Given the description of an element on the screen output the (x, y) to click on. 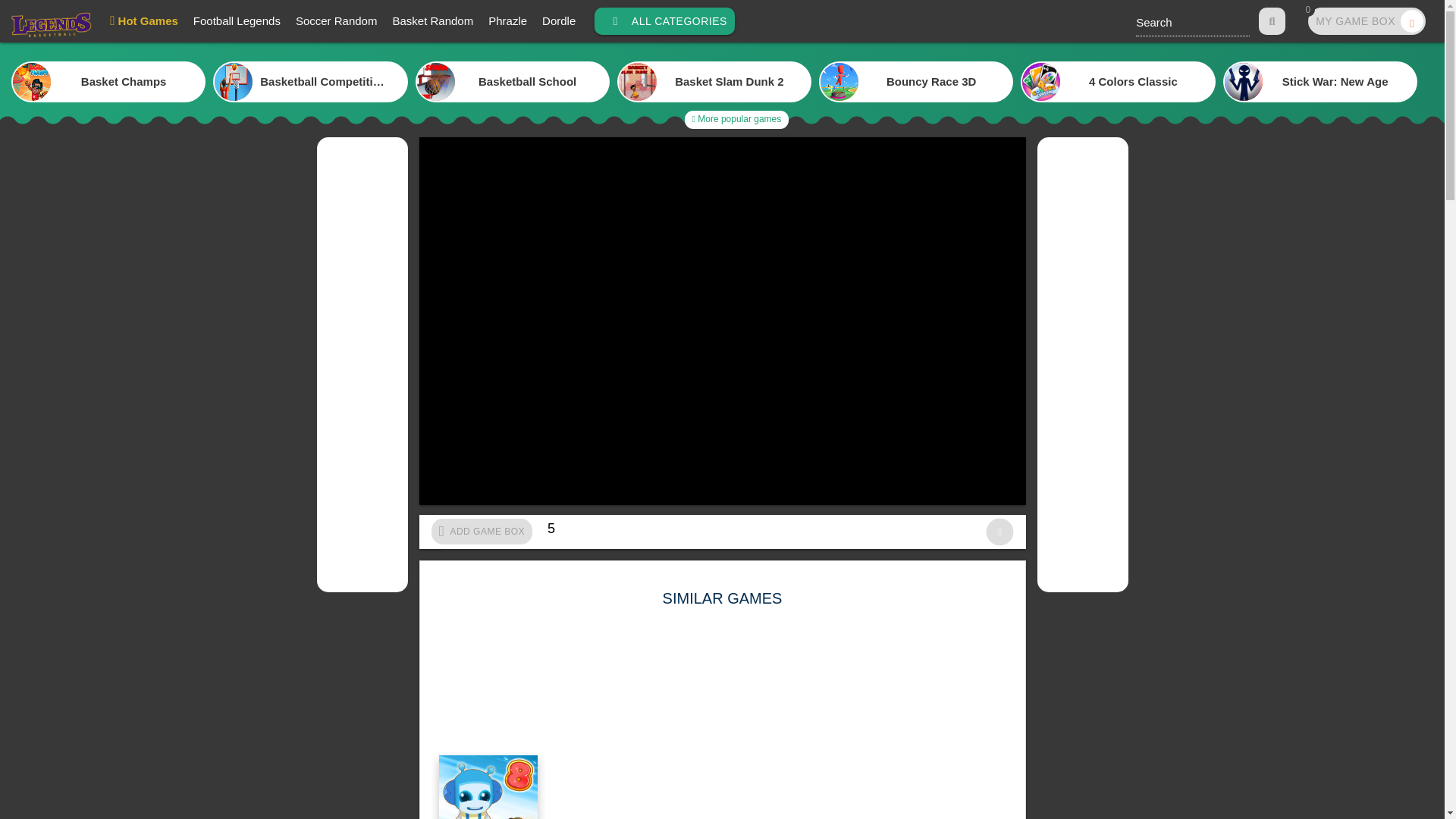
 Basket Champs (1366, 21)
Basketball School (108, 81)
Phrazle (512, 81)
Basketball Legends (507, 21)
ALL CATEGORIES (50, 27)
More popular games (664, 21)
HOT Games (736, 119)
 Basketball School (143, 21)
Bouncy Race 3D (512, 81)
